Given the description of an element on the screen output the (x, y) to click on. 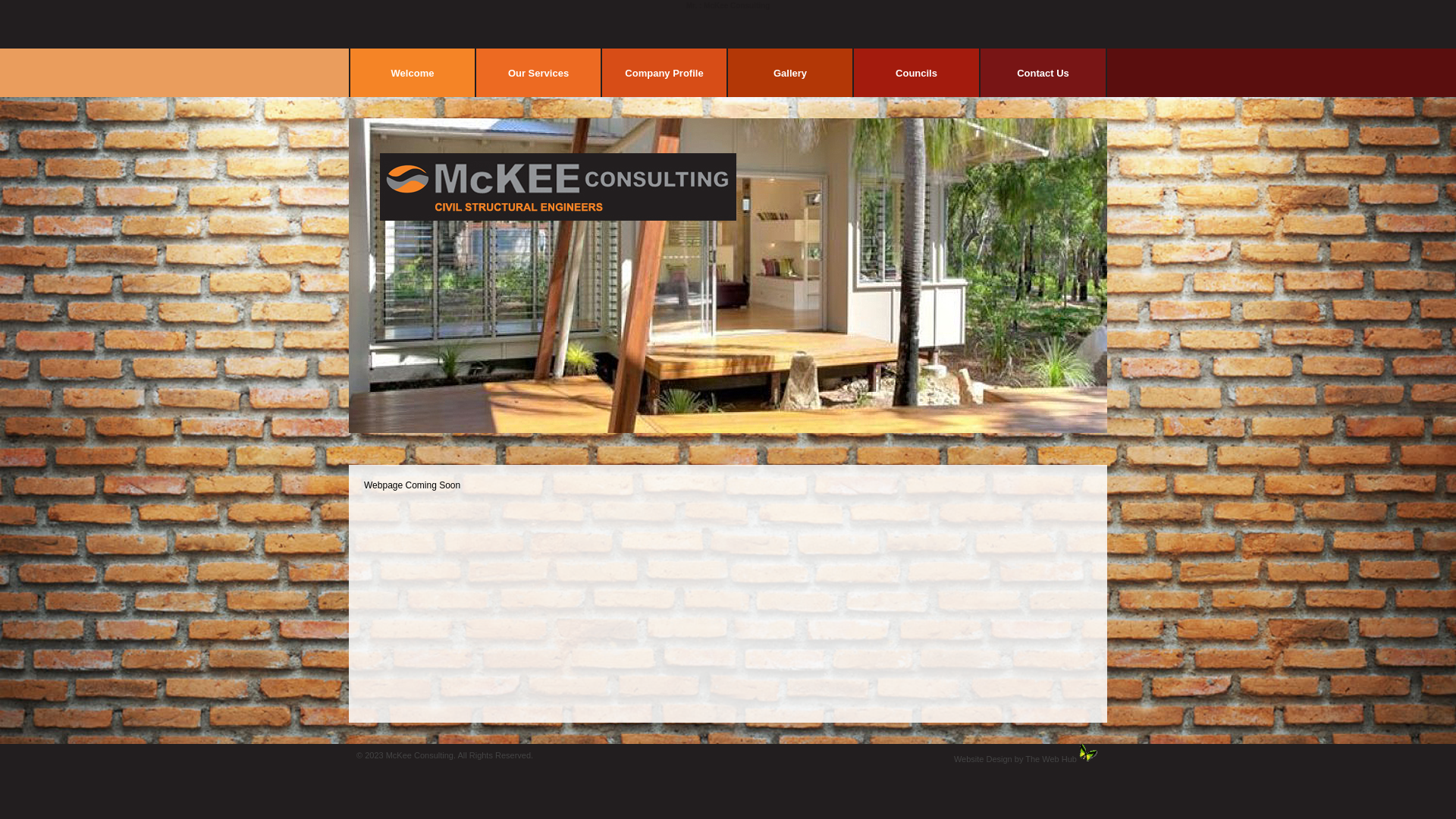
Company Profile Element type: text (663, 72)
Gallery Element type: text (789, 72)
Contact Us Element type: text (1042, 72)
Website Designed and Created by The Web Hub Element type: hover (1089, 752)
Website Design by The Web Hub Element type: text (1014, 758)
Our Services Element type: text (538, 72)
Councils Element type: text (916, 72)
Welcome Element type: text (412, 72)
